Given the description of an element on the screen output the (x, y) to click on. 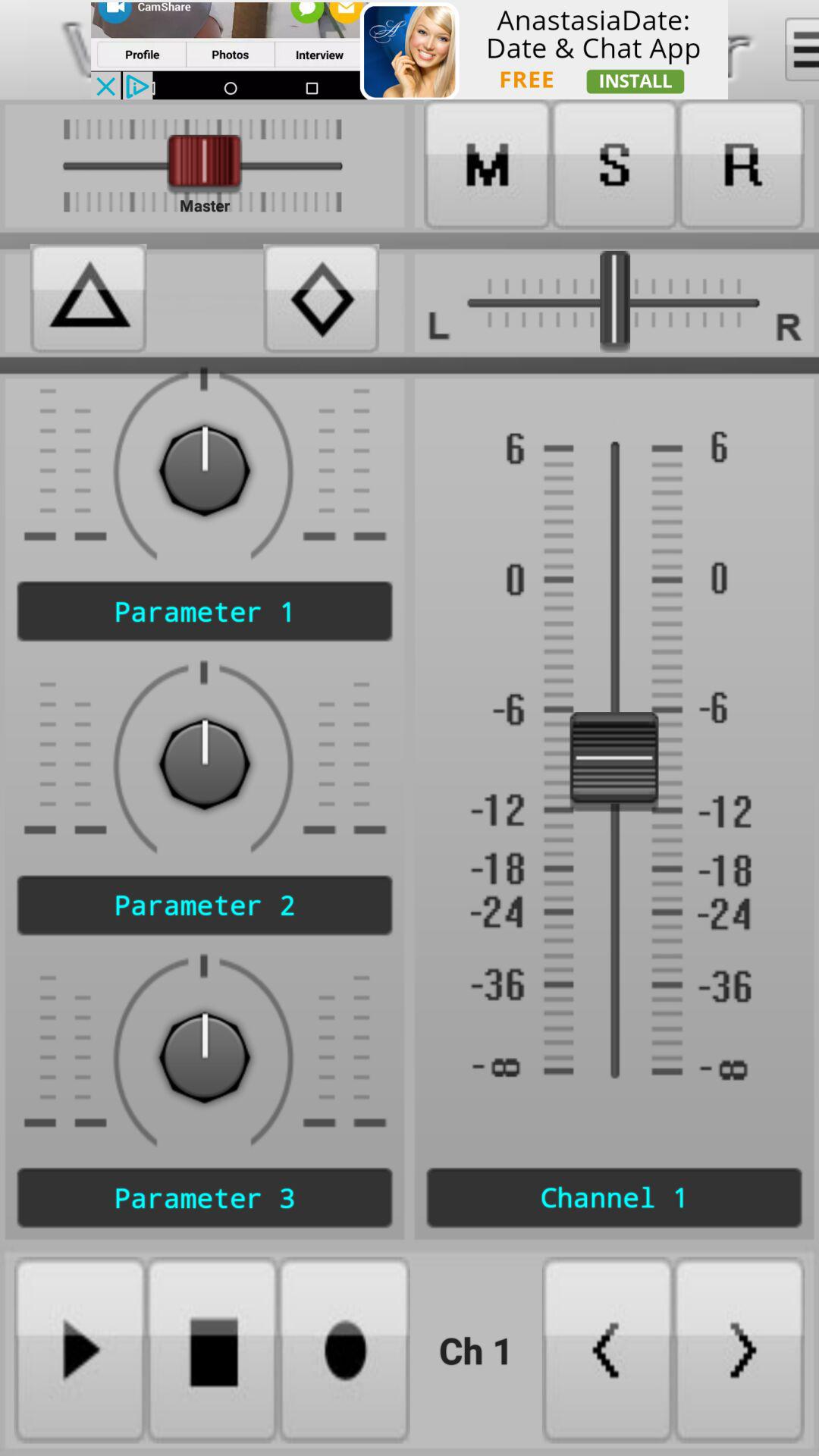
view advertisement (409, 49)
